Given the description of an element on the screen output the (x, y) to click on. 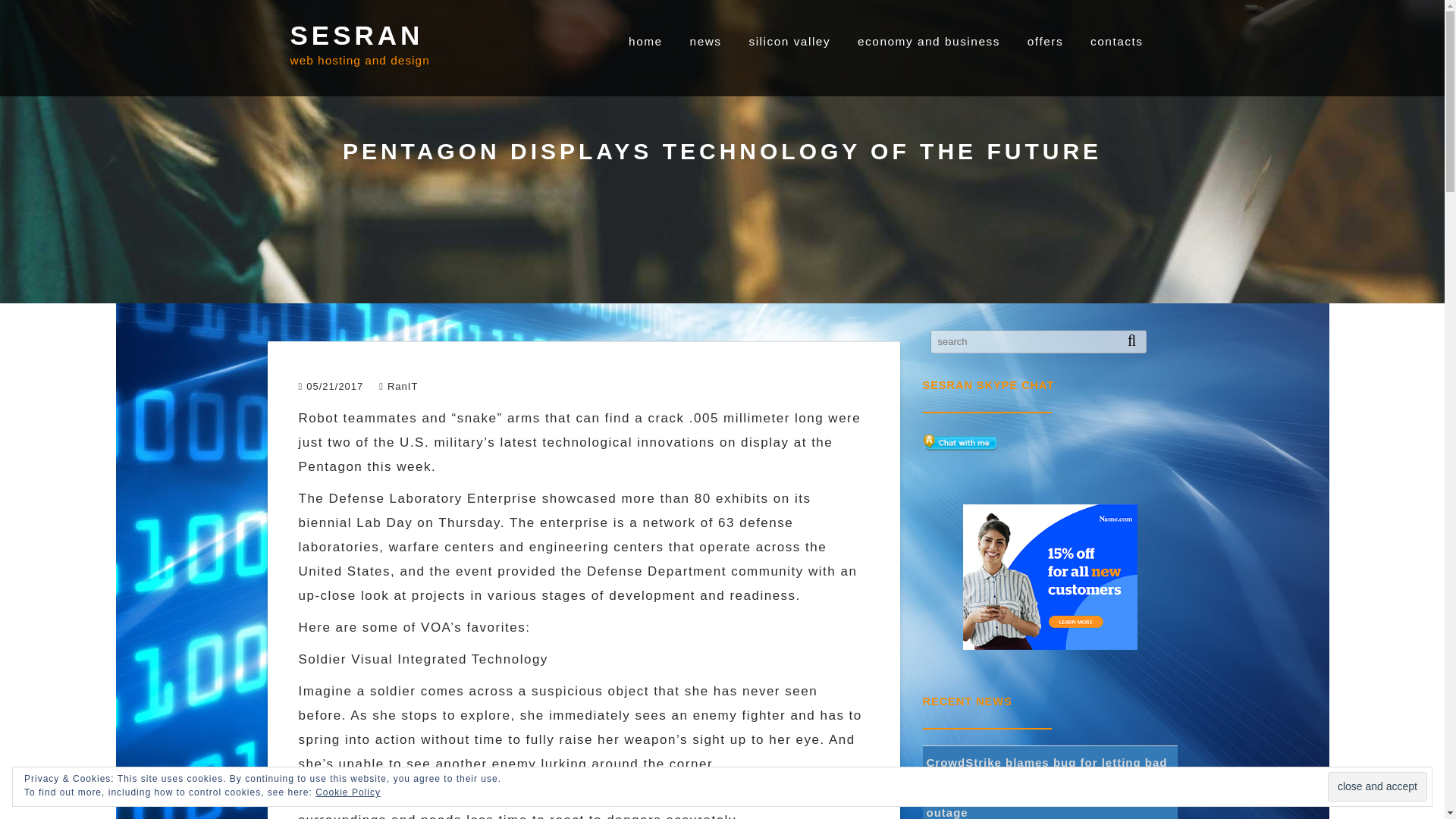
news (705, 41)
economy and business (928, 41)
contacts (1116, 41)
close and accept (1376, 786)
RanIT (397, 386)
offers (1045, 41)
silicon valley (788, 41)
home (645, 41)
SESRAN (356, 34)
SESRAN (356, 34)
